Given the description of an element on the screen output the (x, y) to click on. 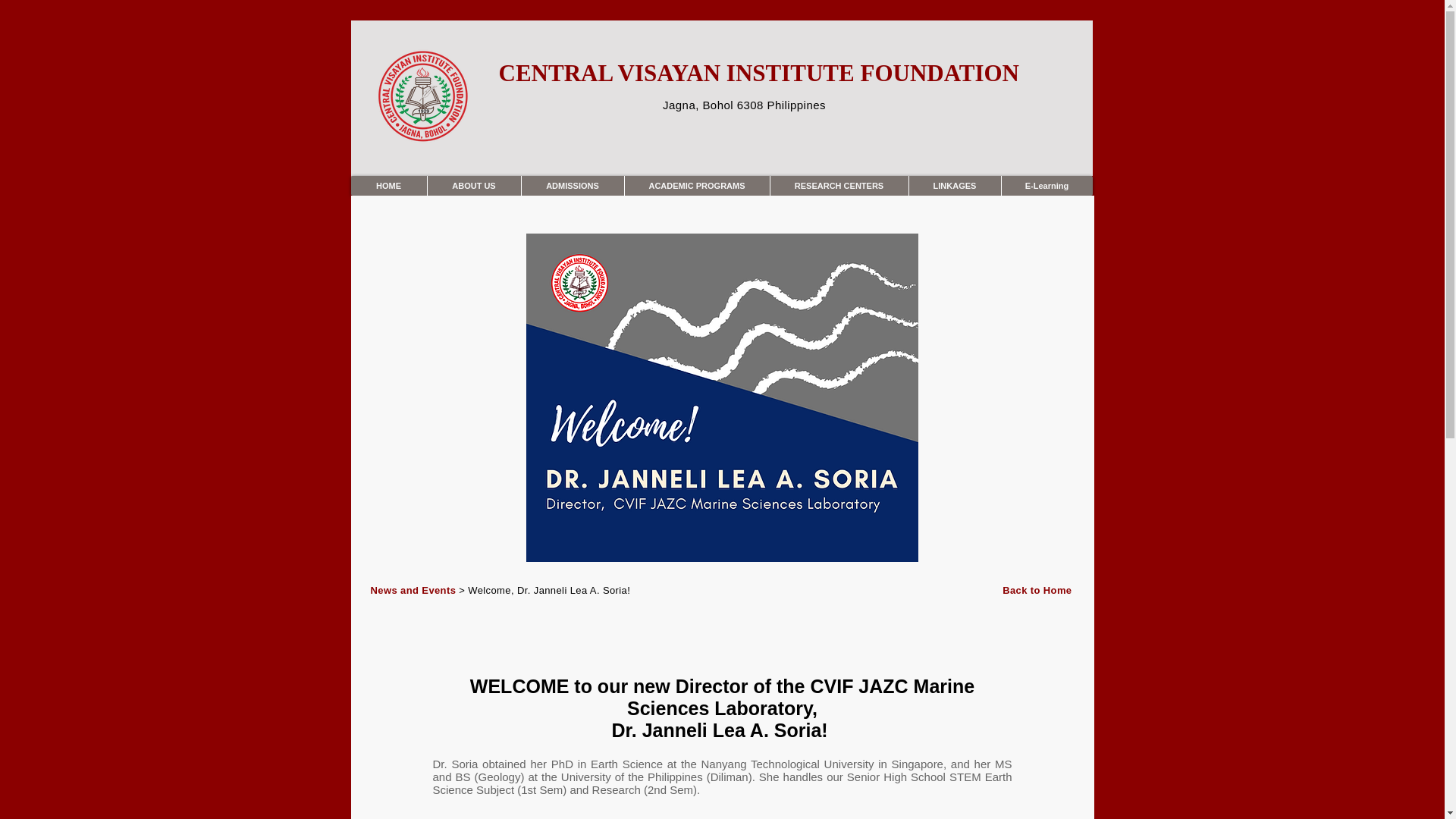
ABOUT US (472, 185)
LINKAGES (954, 185)
HOME (388, 185)
RESEARCH CENTERS (837, 185)
ADMISSIONS (571, 185)
ACADEMIC PROGRAMS (695, 185)
Back to Home (1037, 590)
E-Learning (1047, 185)
